Given the description of an element on the screen output the (x, y) to click on. 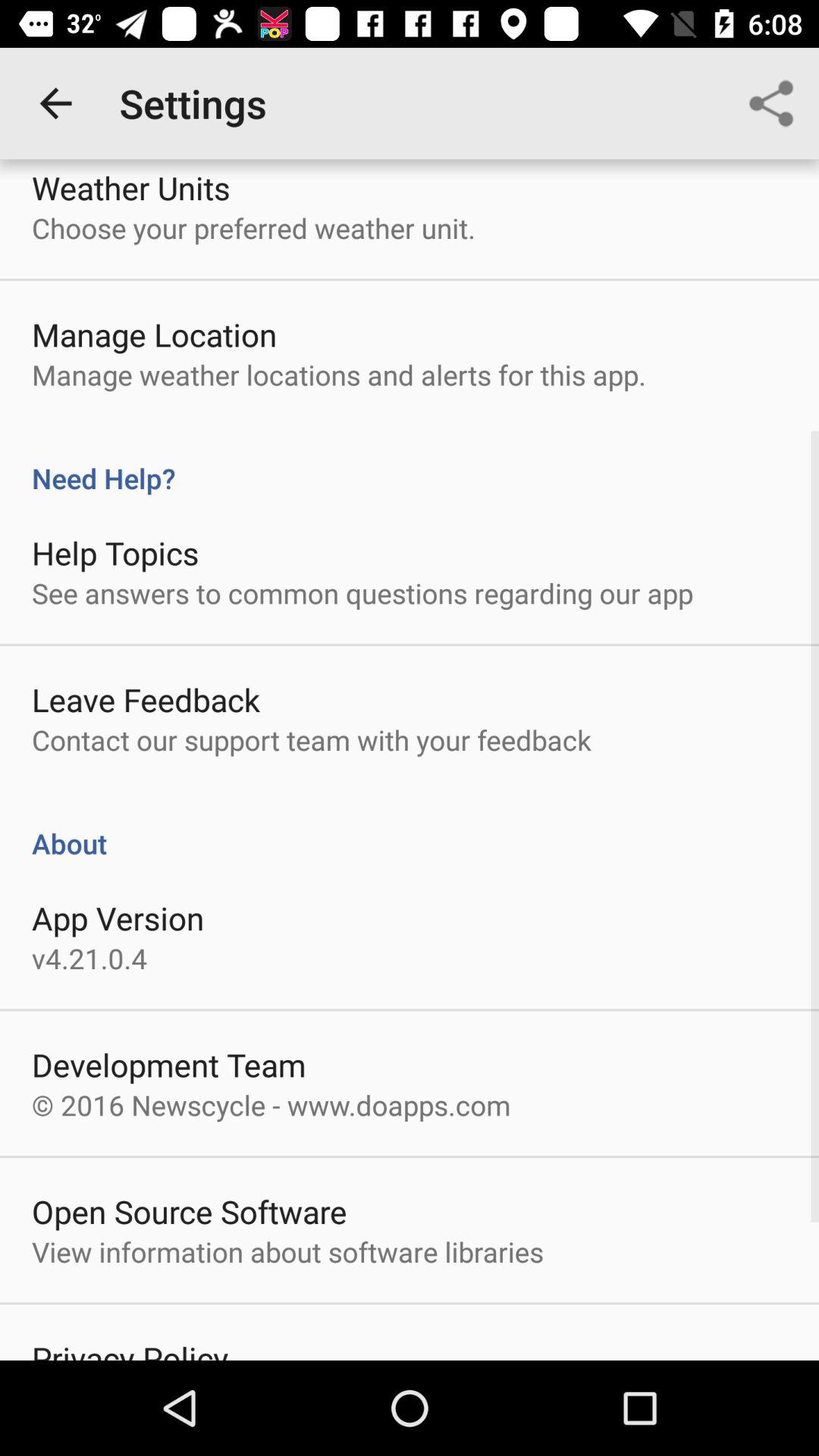
open the manage location icon (153, 334)
